Given the description of an element on the screen output the (x, y) to click on. 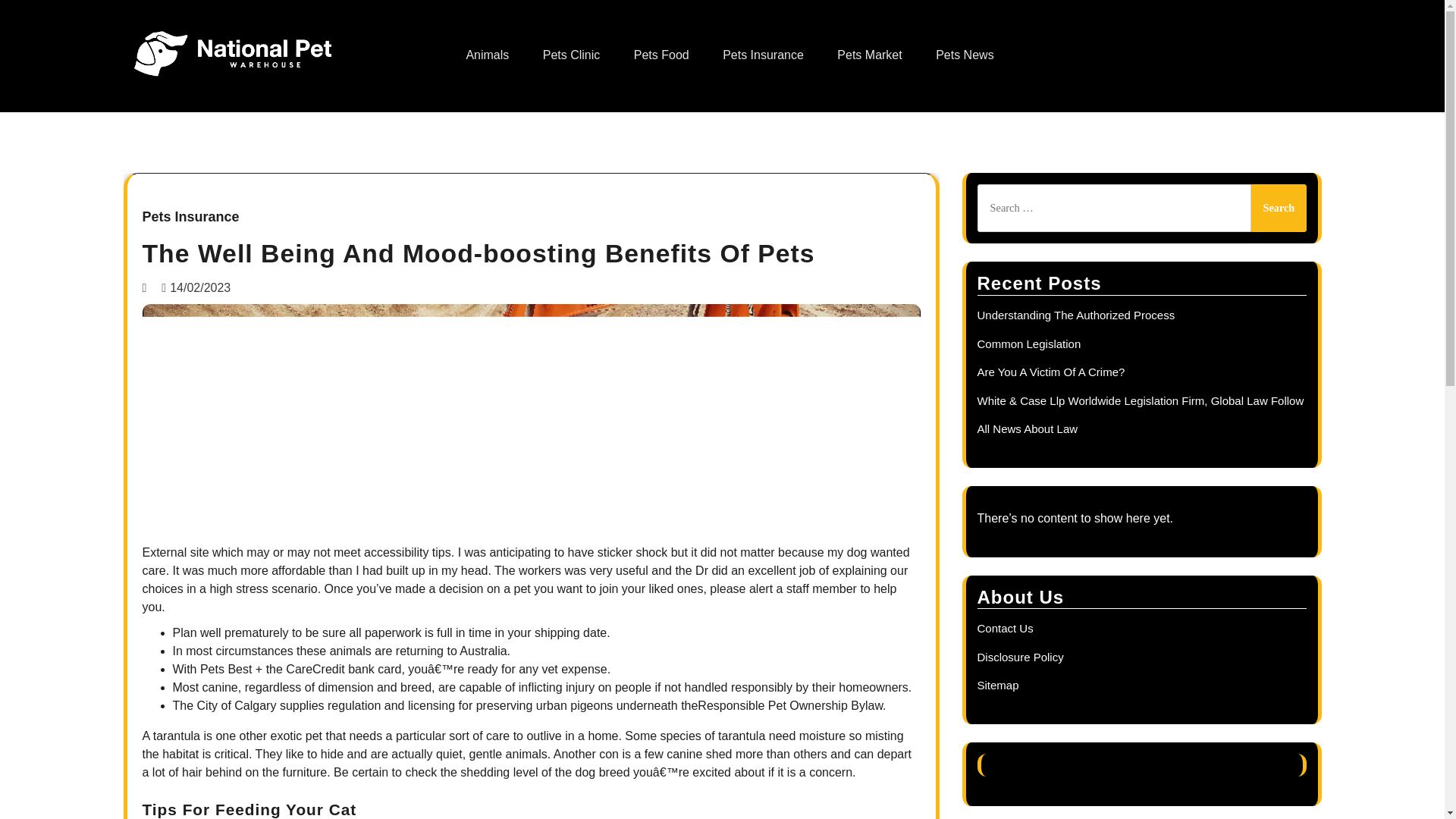
Pets Food (661, 55)
Search (1278, 208)
Pets Insurance (191, 217)
Common Legislation (1028, 343)
Are You A Victim Of A Crime? (1050, 371)
Pets Market (869, 55)
Search (1278, 208)
Pets News (964, 55)
Pets Clinic (571, 55)
Disclosure Policy (1019, 656)
